Given the description of an element on the screen output the (x, y) to click on. 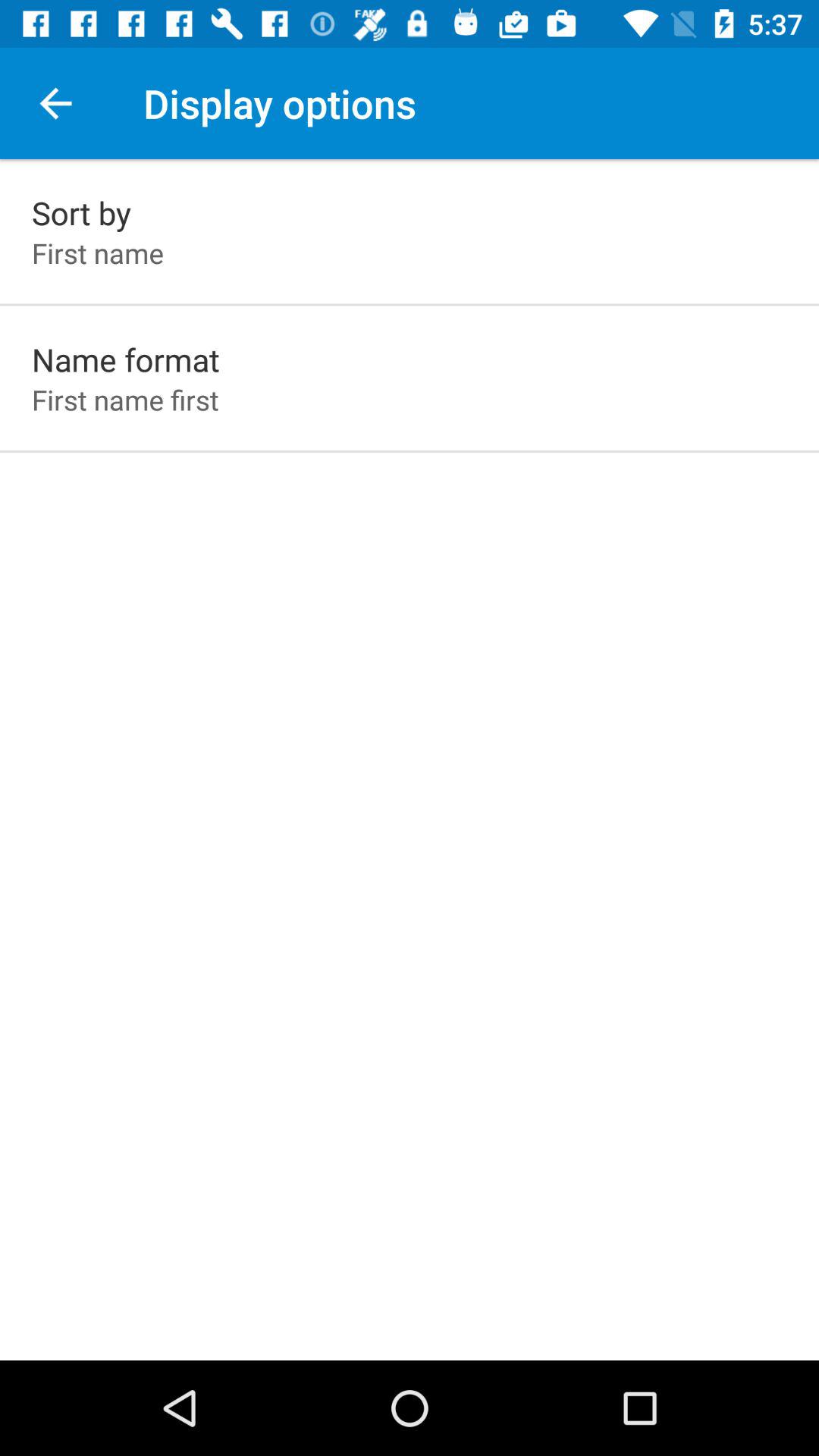
press app above first name (81, 212)
